Given the description of an element on the screen output the (x, y) to click on. 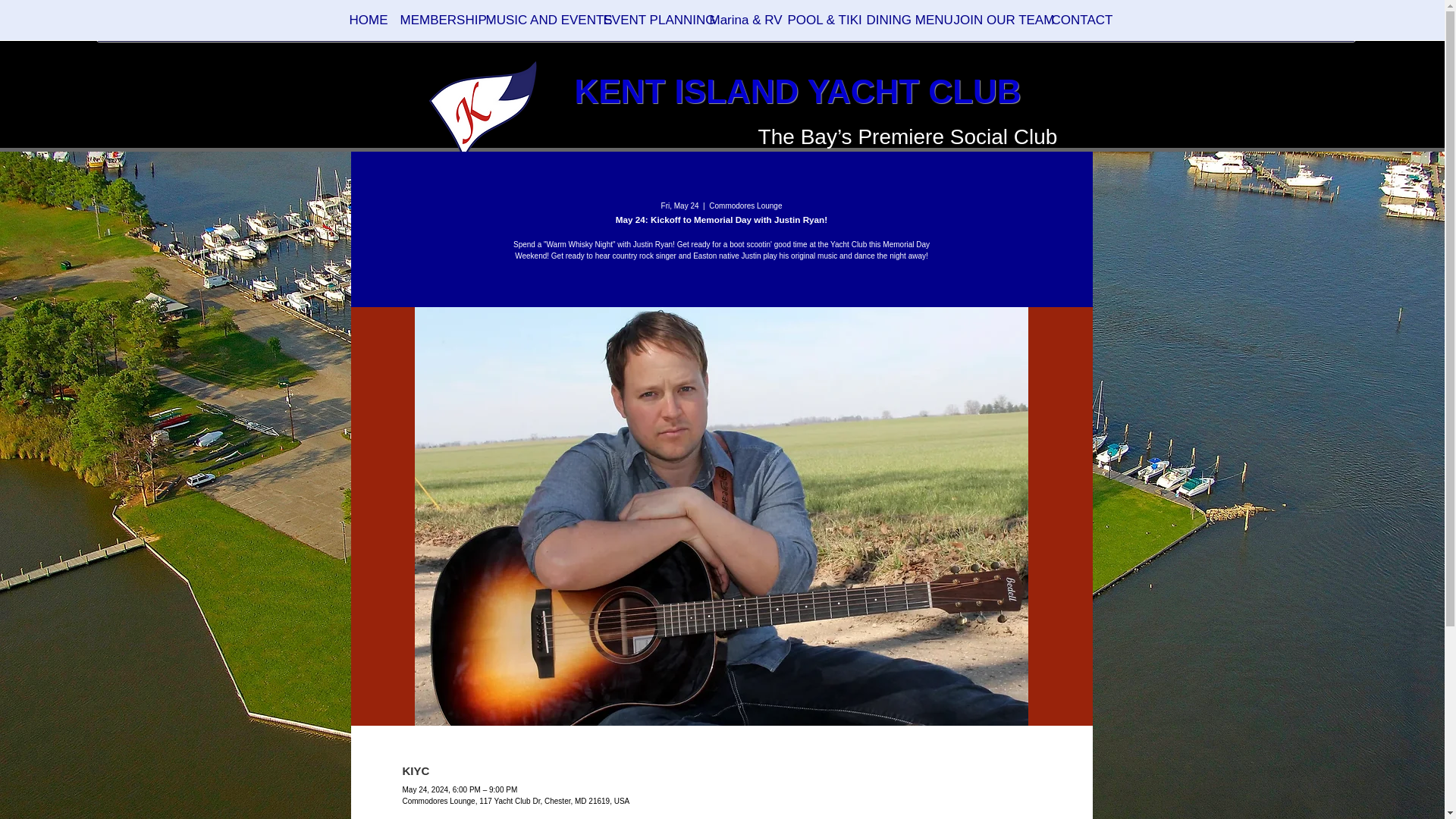
MEMBERSHIP (431, 24)
HOME (362, 24)
JOIN OUR TEAM (990, 24)
